Given the description of an element on the screen output the (x, y) to click on. 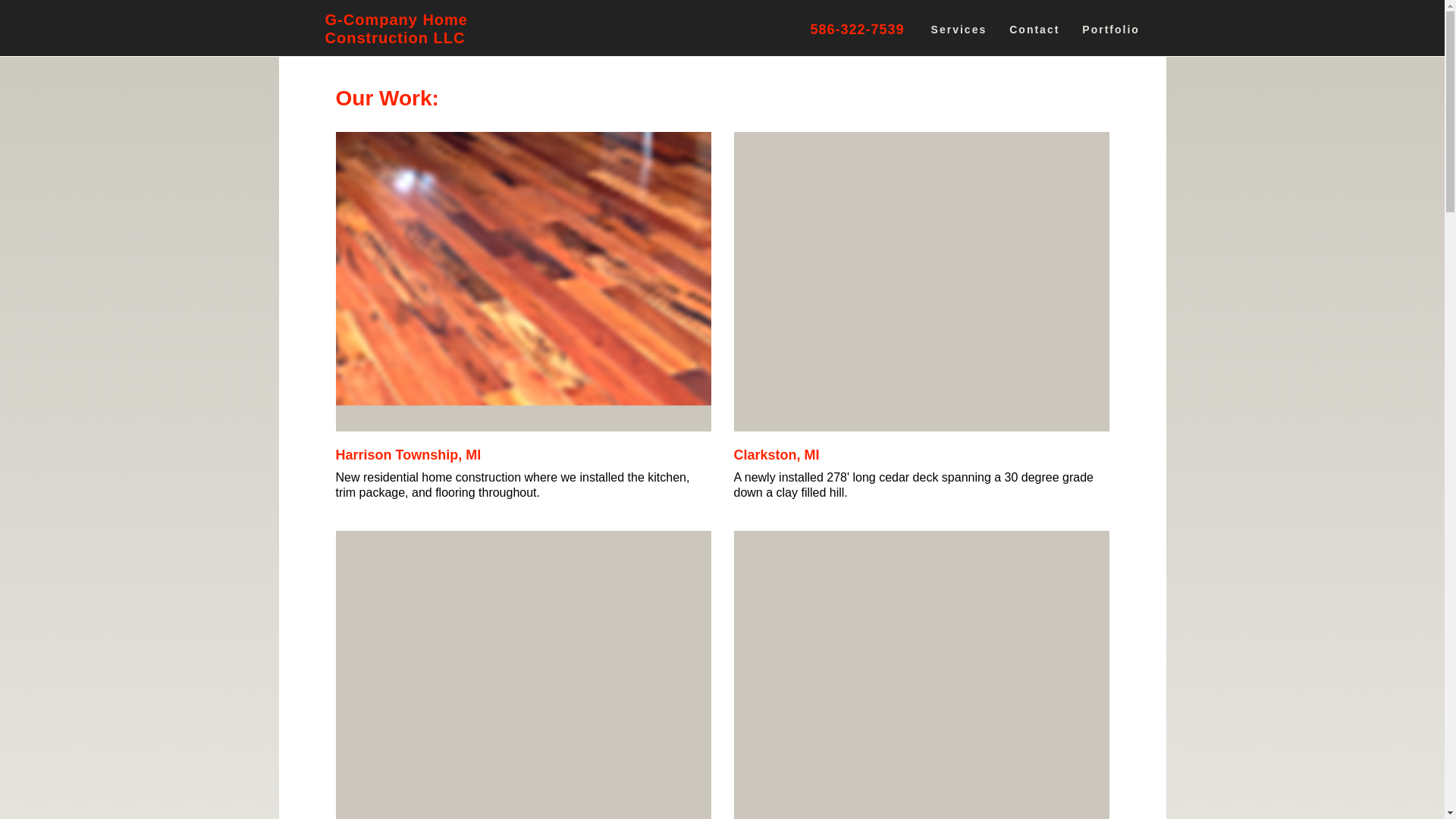
Clarkston, MI (776, 454)
Portfolio (1110, 29)
Contact (1033, 29)
Harrison Township, MI (407, 454)
Services (959, 29)
